Given the description of an element on the screen output the (x, y) to click on. 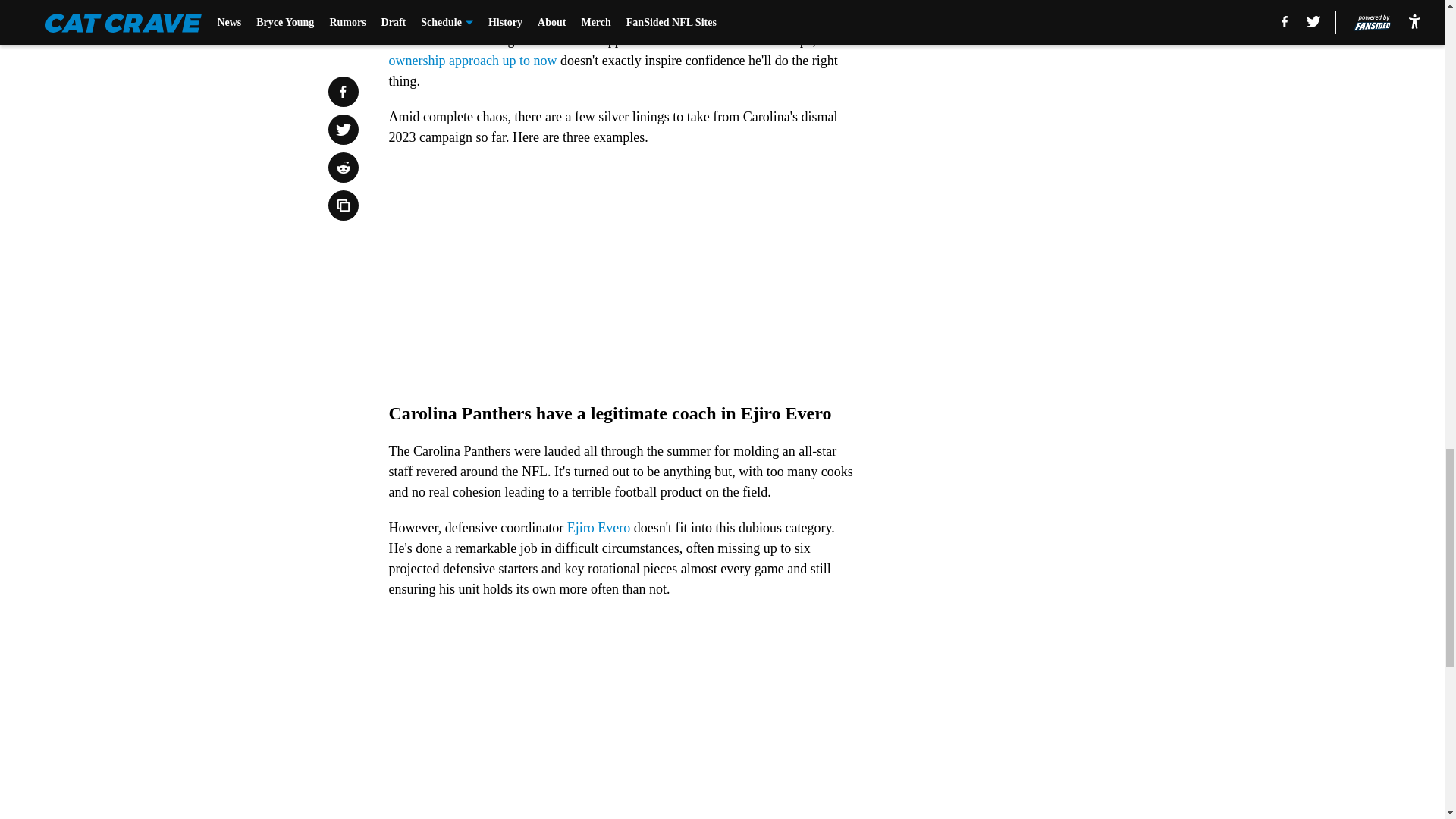
ownership approach up to now (472, 60)
Ejiro Evero (598, 527)
